Given the description of an element on the screen output the (x, y) to click on. 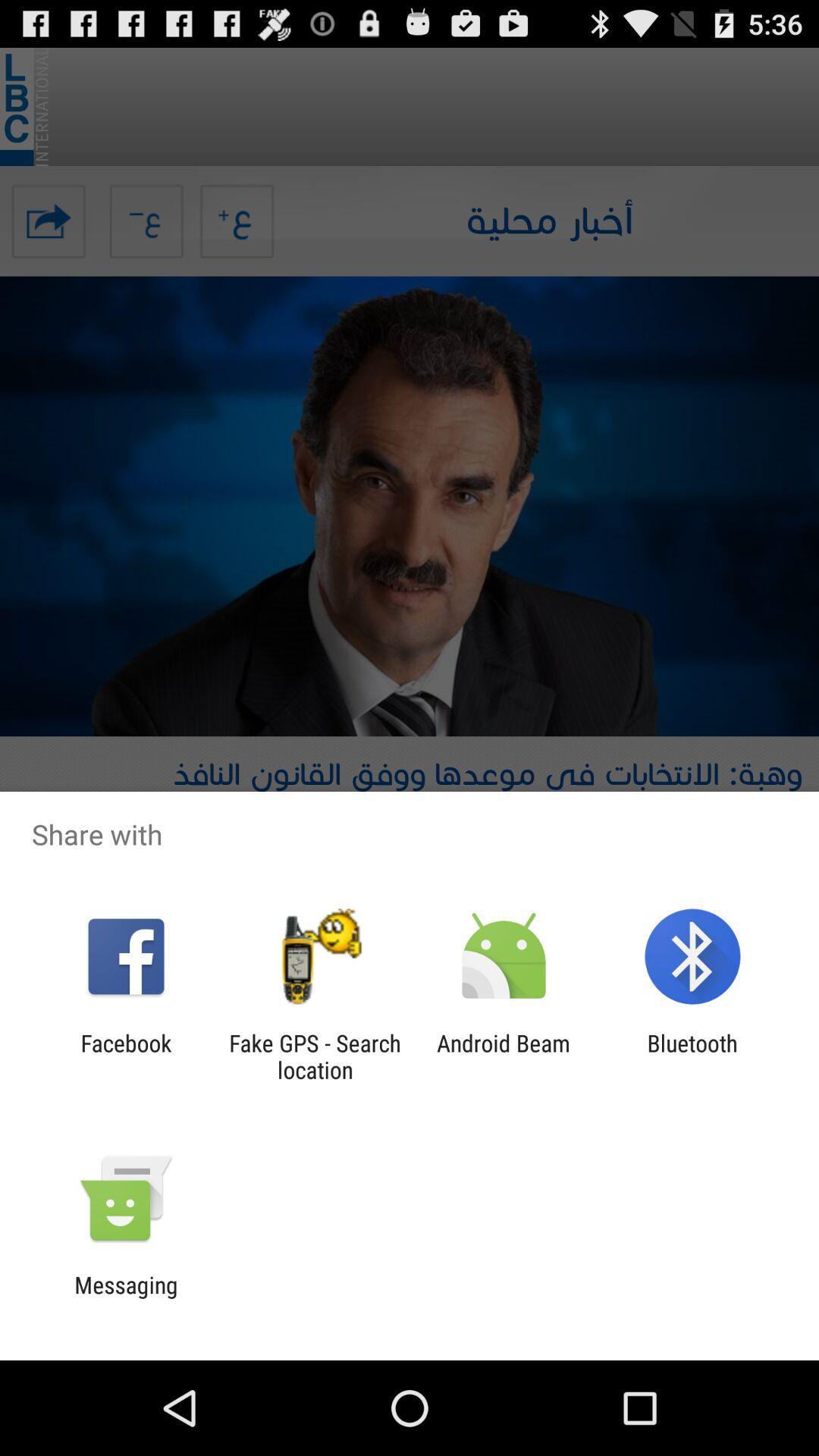
turn off the messaging (126, 1298)
